Given the description of an element on the screen output the (x, y) to click on. 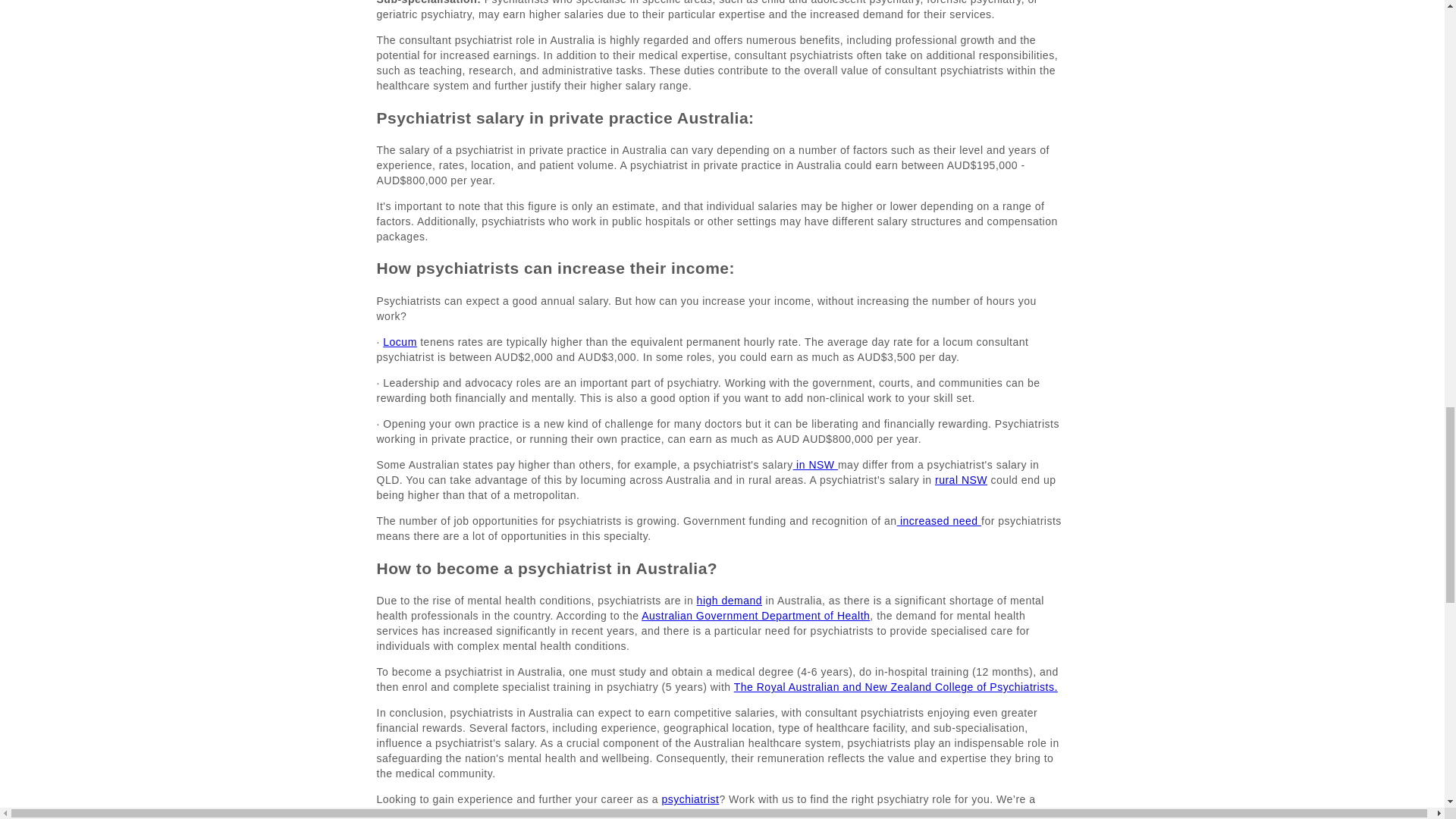
Locum (399, 341)
in NSW (815, 464)
